Given the description of an element on the screen output the (x, y) to click on. 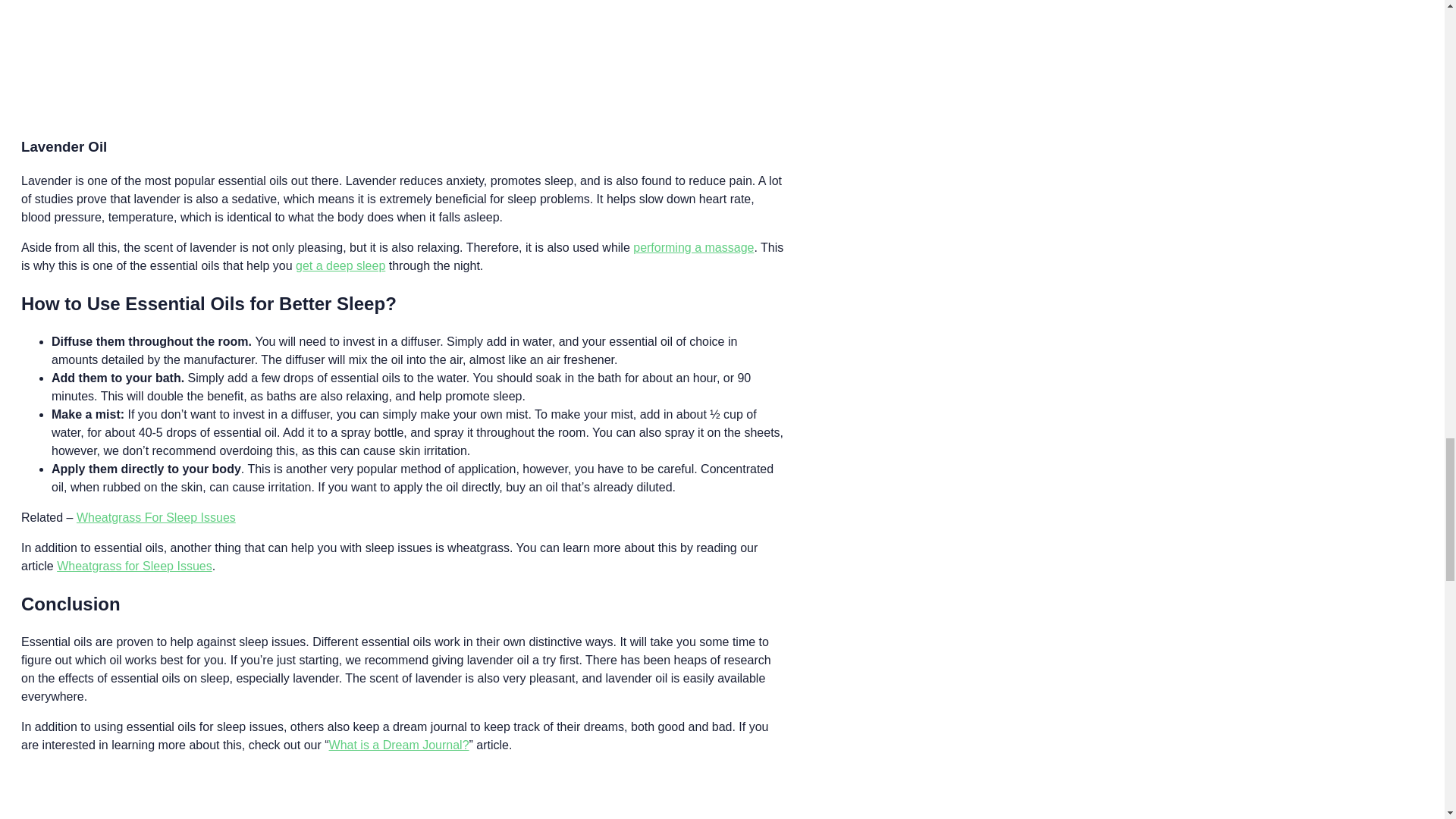
performing a massage (693, 246)
Wheatgrass for Sleep Issues (134, 565)
What is a Dream Journal? (398, 744)
get a deep sleep (340, 265)
Wheatgrass For Sleep Issues (156, 517)
